Given the description of an element on the screen output the (x, y) to click on. 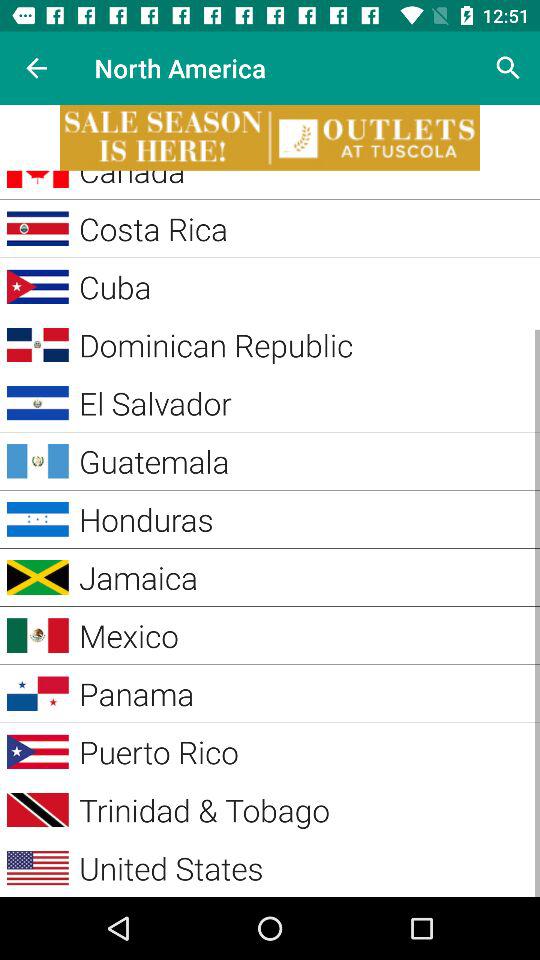
advertisement bar (270, 137)
